Given the description of an element on the screen output the (x, y) to click on. 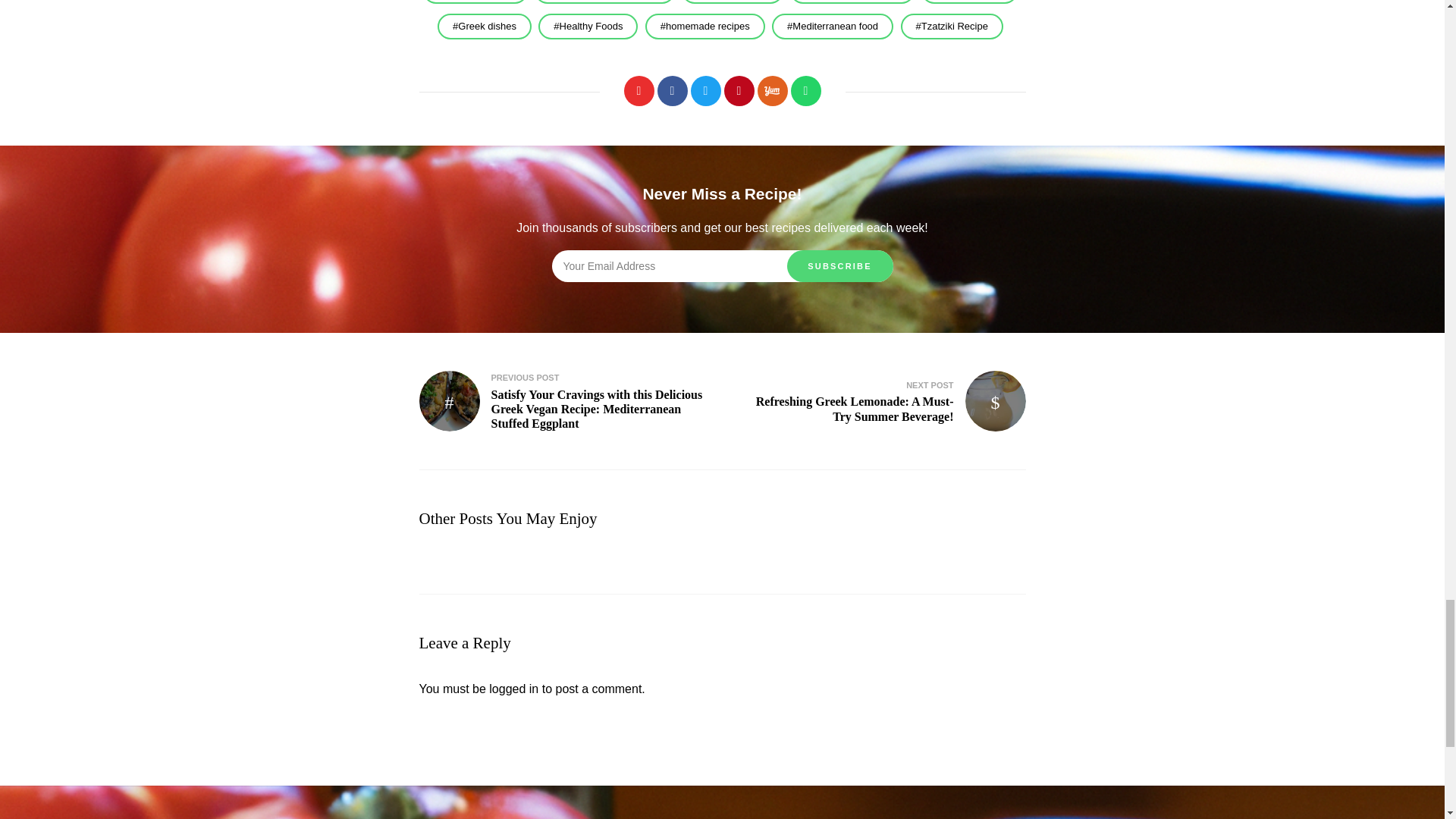
Yummly (772, 91)
Culinary Adventures (852, 2)
Appetizer Ideas (475, 2)
authentic Greek recipes (604, 2)
Twitter (705, 91)
Like (638, 91)
WhatsApp (805, 91)
Cooking Guide (732, 2)
Pinterest (738, 91)
Subscribe (840, 265)
